Given the description of an element on the screen output the (x, y) to click on. 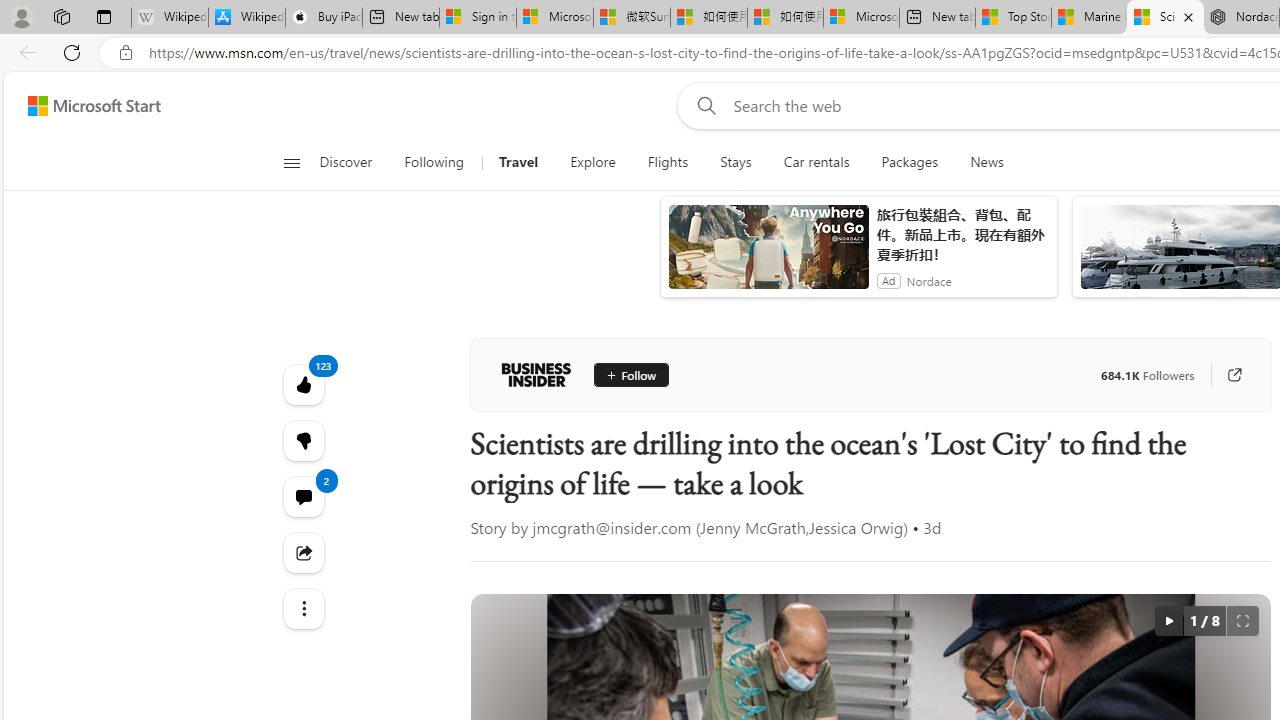
Open navigation menu (291, 162)
Discover (345, 162)
Business Insider (536, 374)
Travel (518, 162)
Class: button-glyph (290, 162)
Microsoft Services Agreement (554, 17)
See more (302, 608)
autorotate button (1168, 620)
Packages (909, 162)
Skip to content (86, 105)
Marine life - MSN (1089, 17)
Tab actions menu (104, 16)
Sign in to your Microsoft account (477, 17)
Close tab (1188, 16)
